Given the description of an element on the screen output the (x, y) to click on. 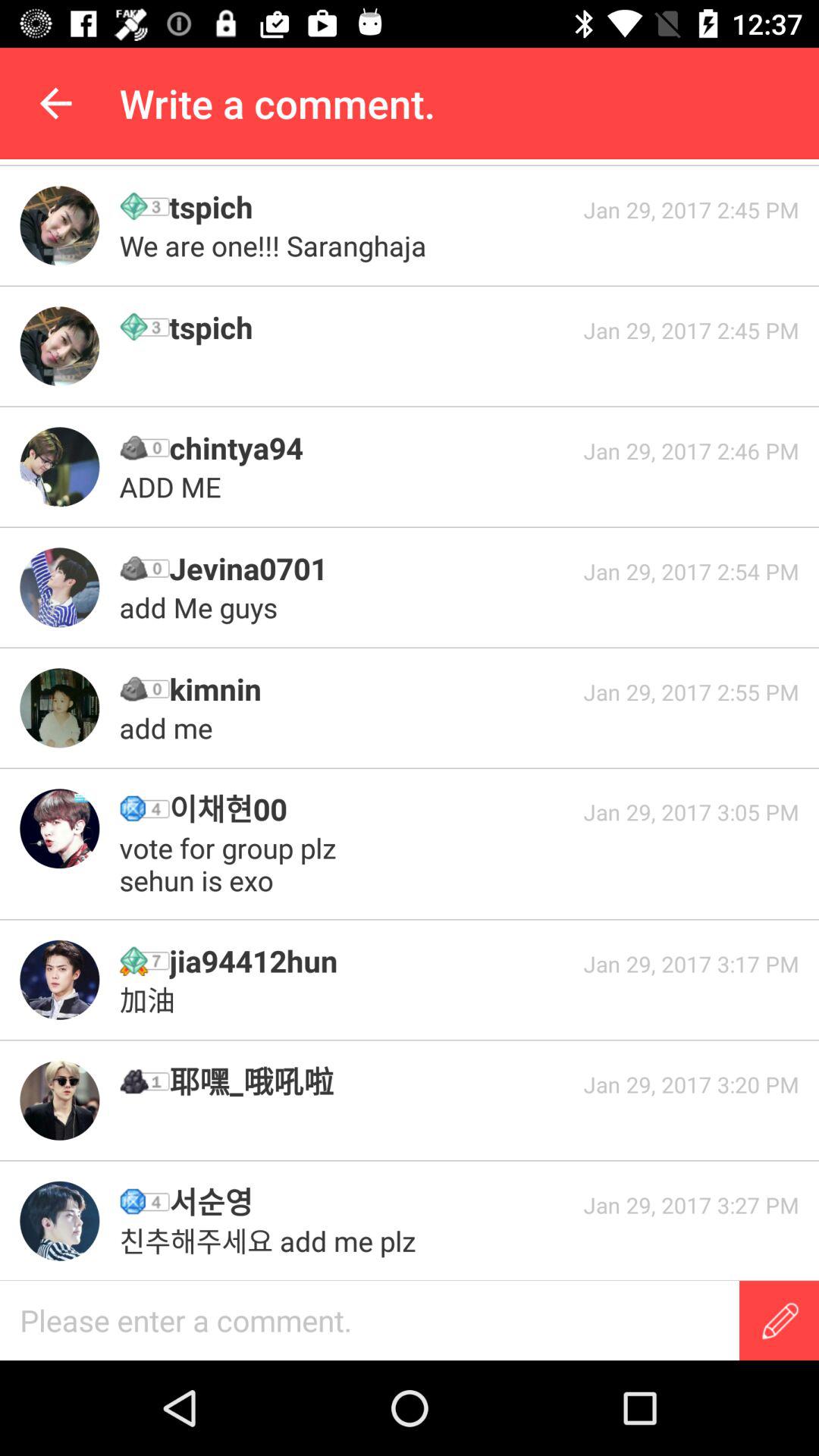
write a message (779, 1320)
